Given the description of an element on the screen output the (x, y) to click on. 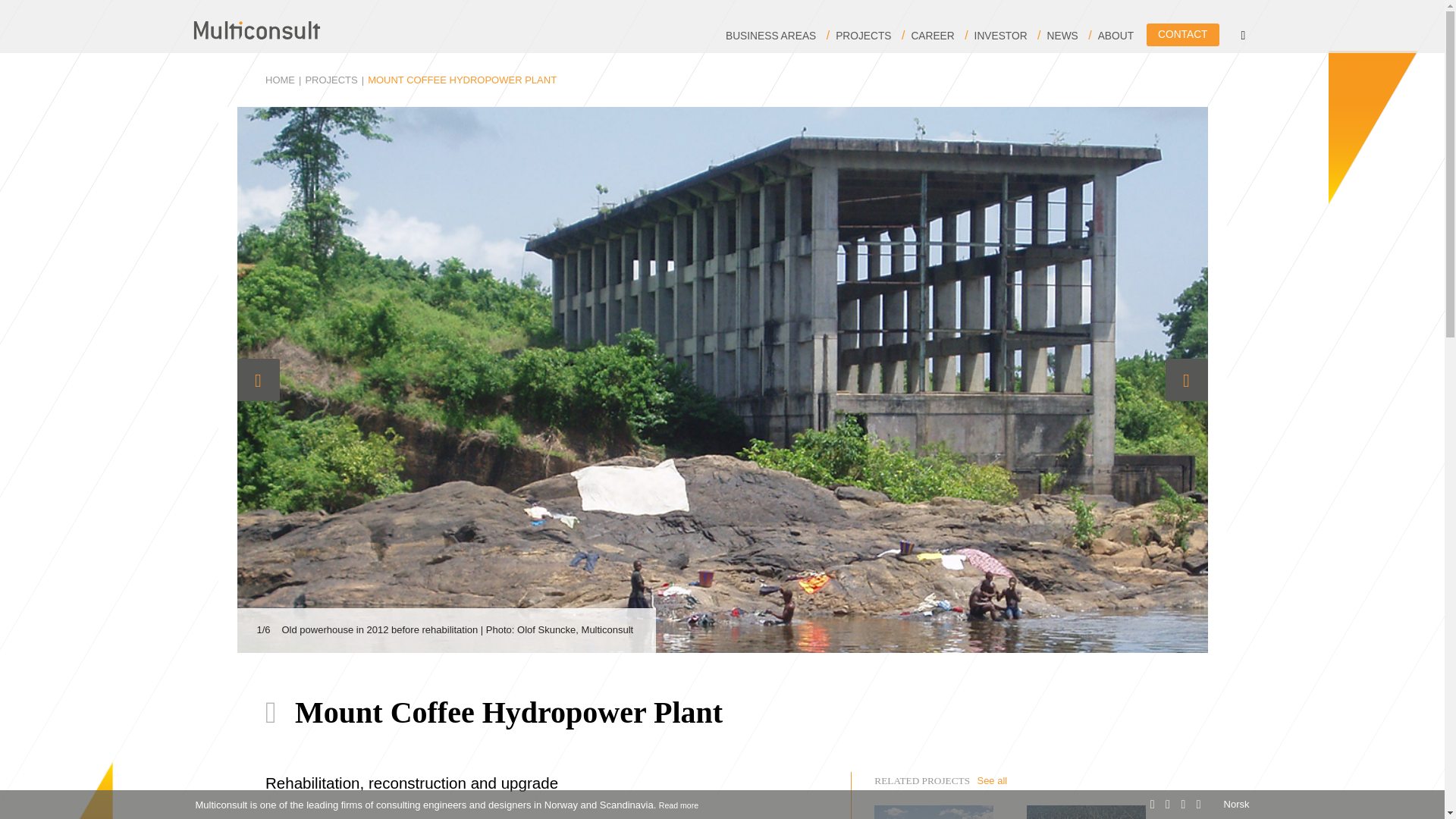
CAREER (932, 36)
INVESTOR (1000, 36)
Go to Multiconsult. (279, 79)
Go to Projects. (330, 79)
PROJECTS (863, 36)
BUSINESS AREAS (770, 36)
Bhutan Hydropower (1085, 812)
To the main page of Multiconsult (256, 30)
PROJECTS (330, 79)
... (256, 30)
ABOUT (1115, 36)
HOME (279, 79)
CONTACT (1182, 34)
NEWS (1062, 36)
